Given the description of an element on the screen output the (x, y) to click on. 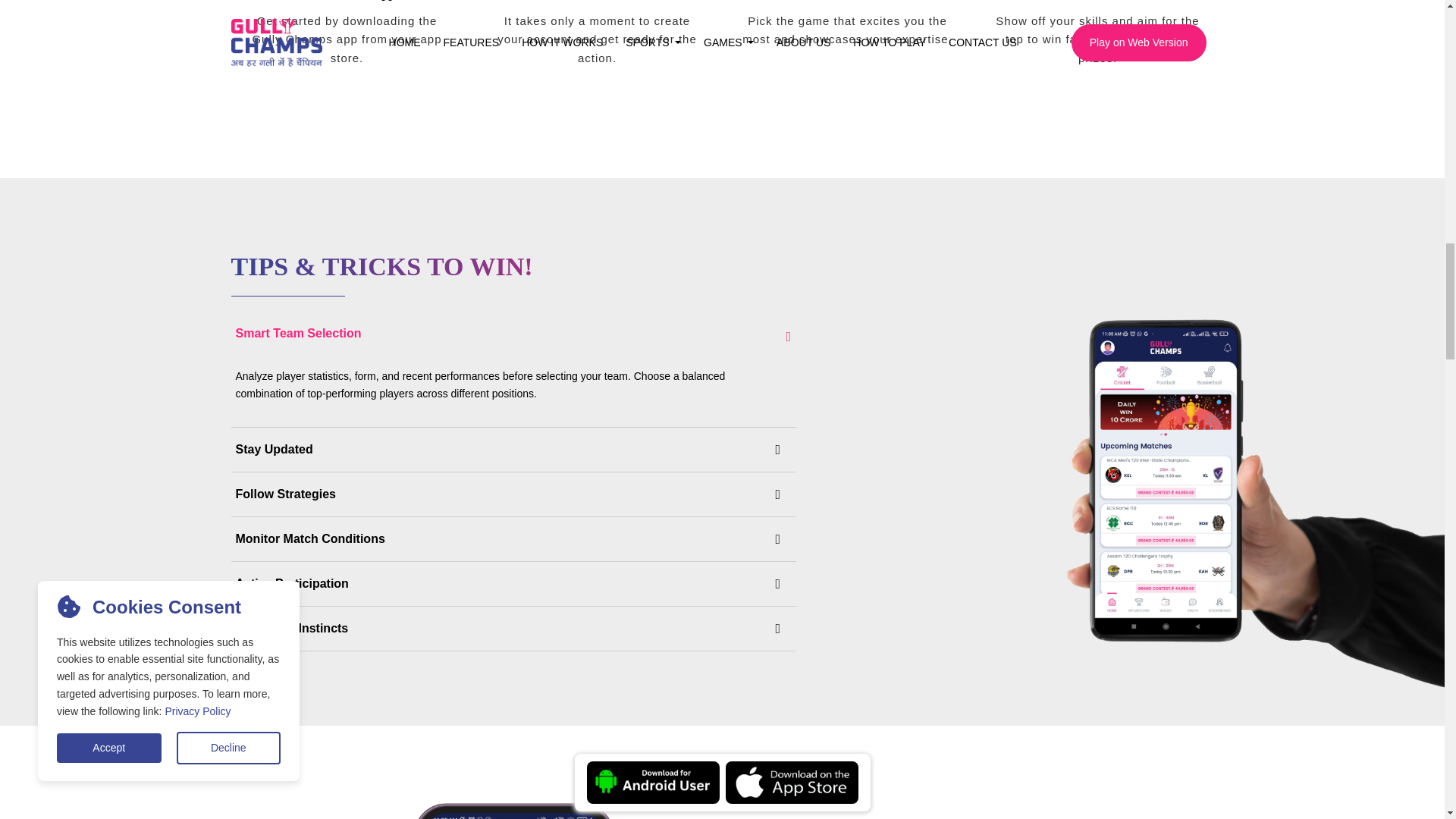
Smart Team Selection (513, 333)
Stay Updated (513, 449)
